Given the description of an element on the screen output the (x, y) to click on. 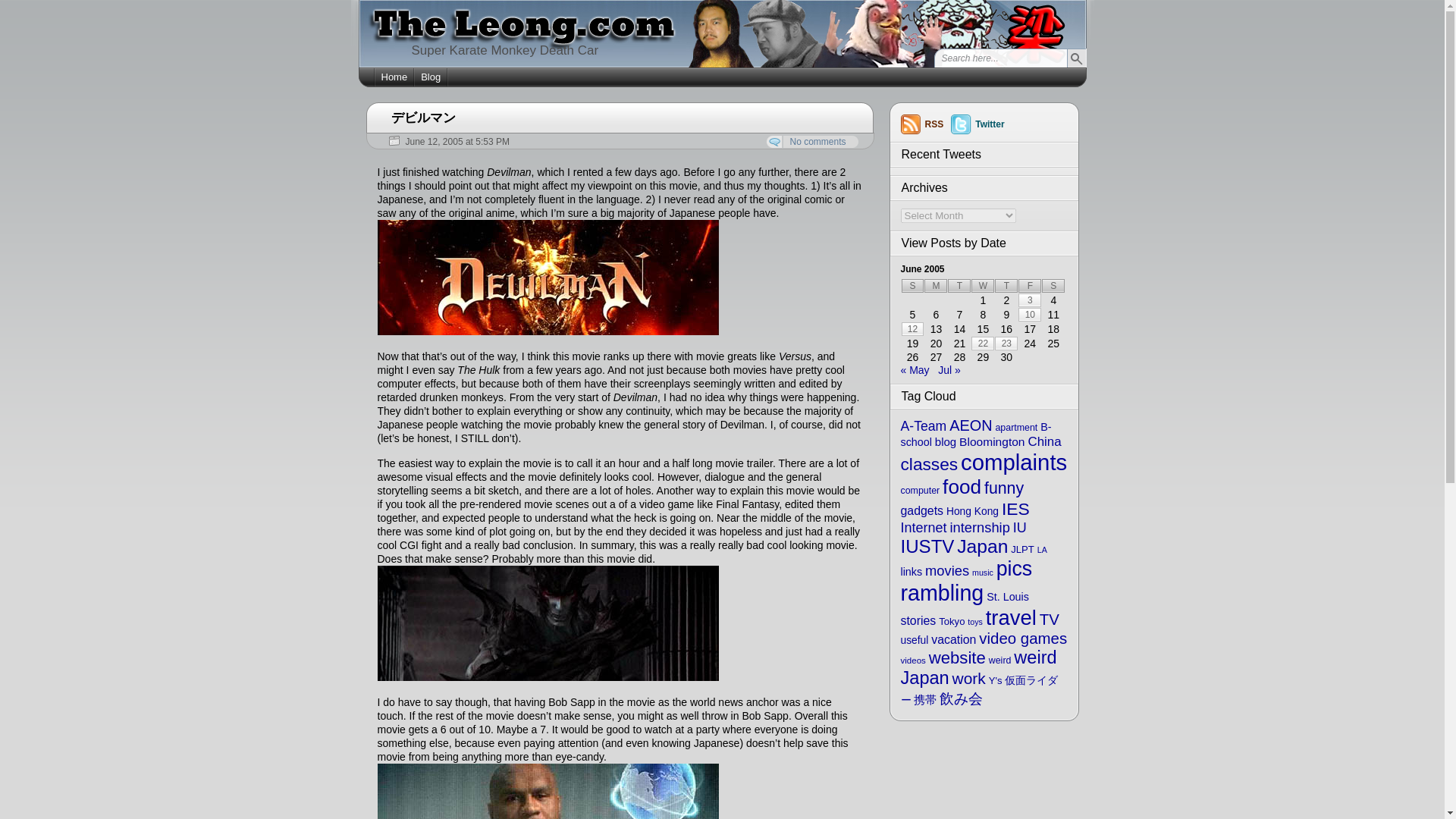
Sunday (912, 285)
blog (945, 440)
Tuesday (959, 285)
Bloomington (992, 440)
12 (912, 328)
gadgets (922, 510)
AEON (970, 425)
China (1044, 441)
complaints (1013, 462)
Thursday (1005, 285)
